Given the description of an element on the screen output the (x, y) to click on. 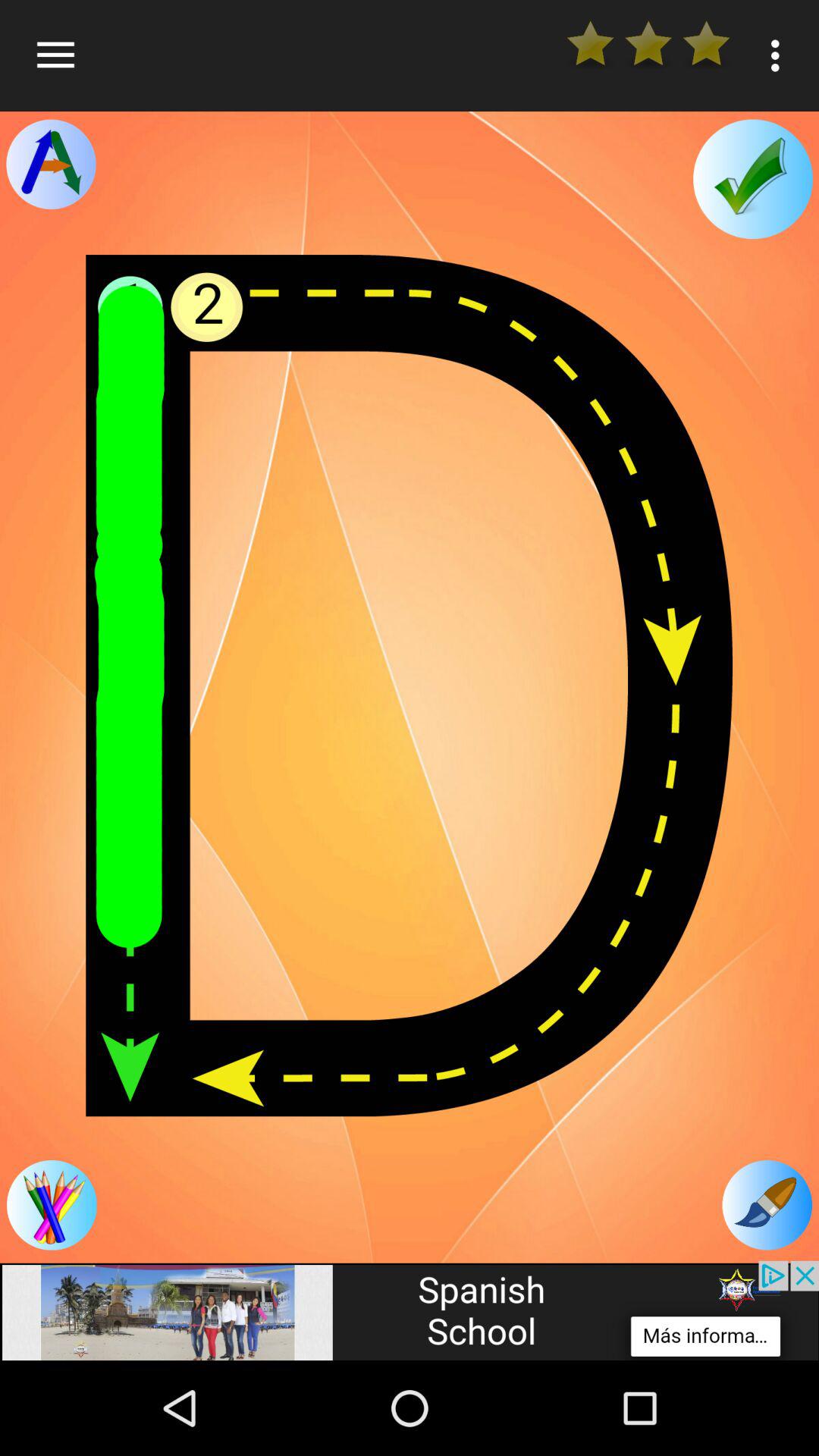
click check mark (752, 178)
